Given the description of an element on the screen output the (x, y) to click on. 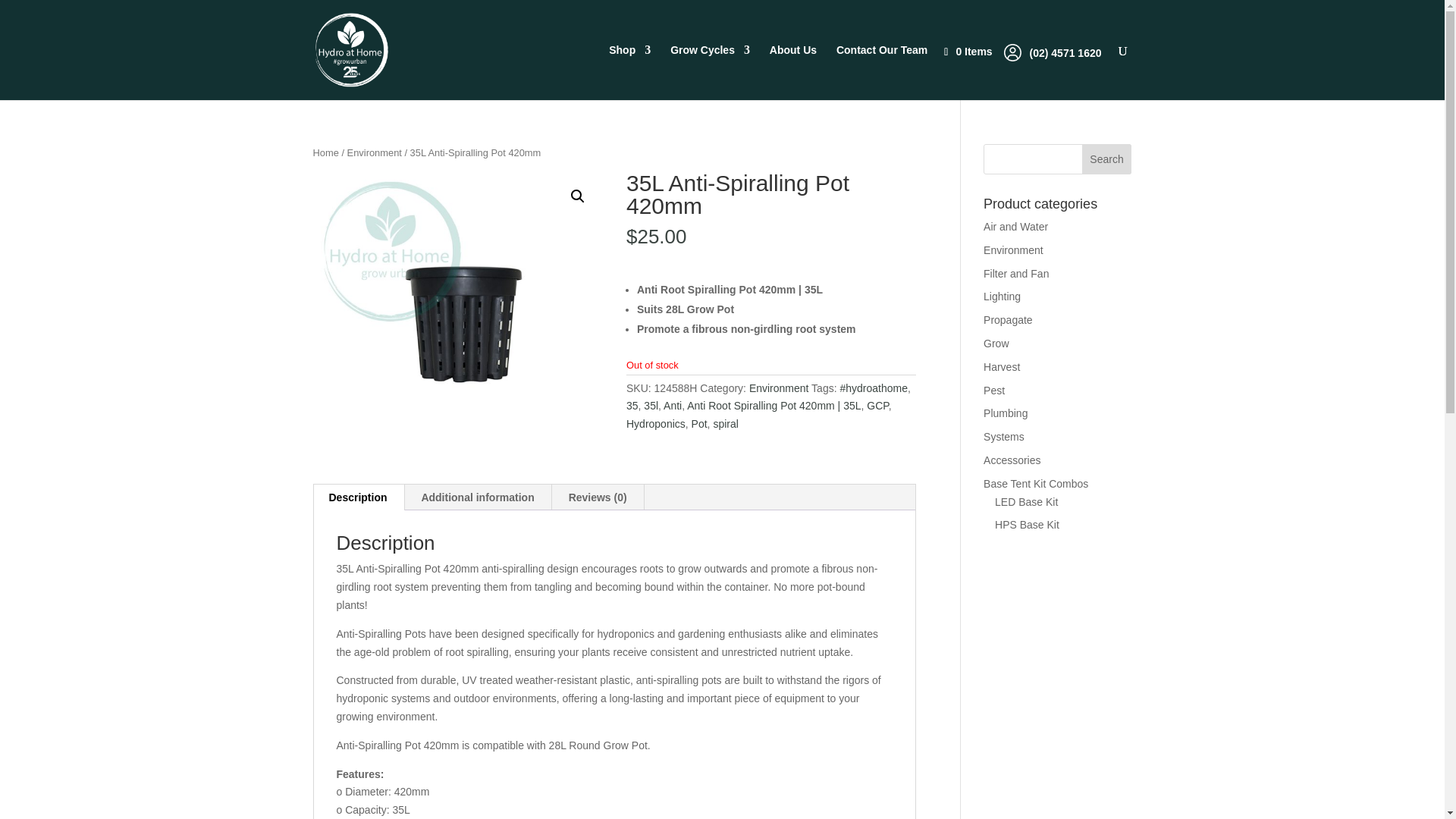
Environment (374, 152)
0 Items (975, 51)
Search (1106, 159)
124588 (457, 316)
Contact Our Team (881, 72)
Grow Cycles (709, 72)
Home (325, 152)
